Given the description of an element on the screen output the (x, y) to click on. 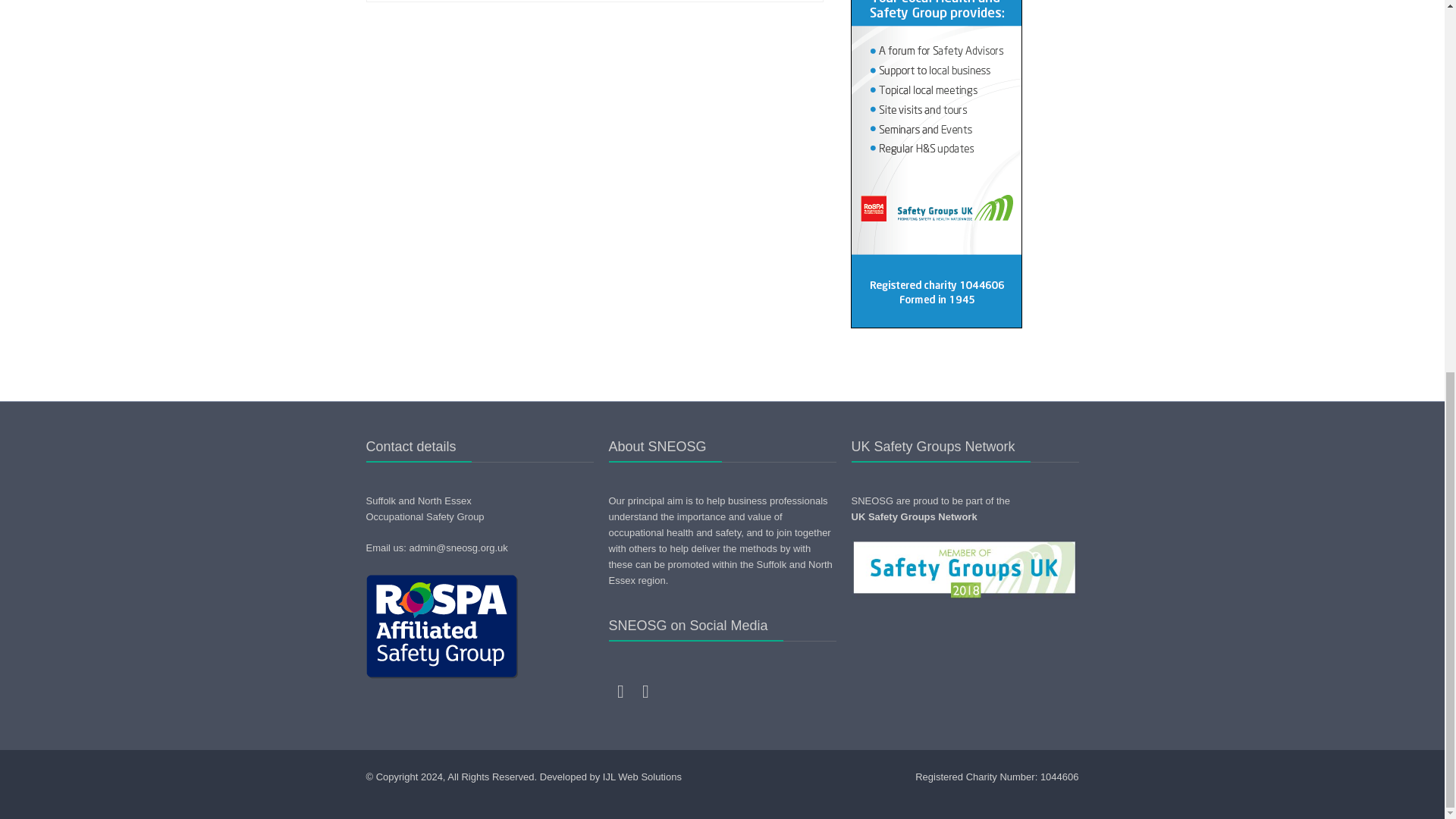
UK Safety Groups Network (913, 516)
IJL Web Solutions (641, 776)
